Given the description of an element on the screen output the (x, y) to click on. 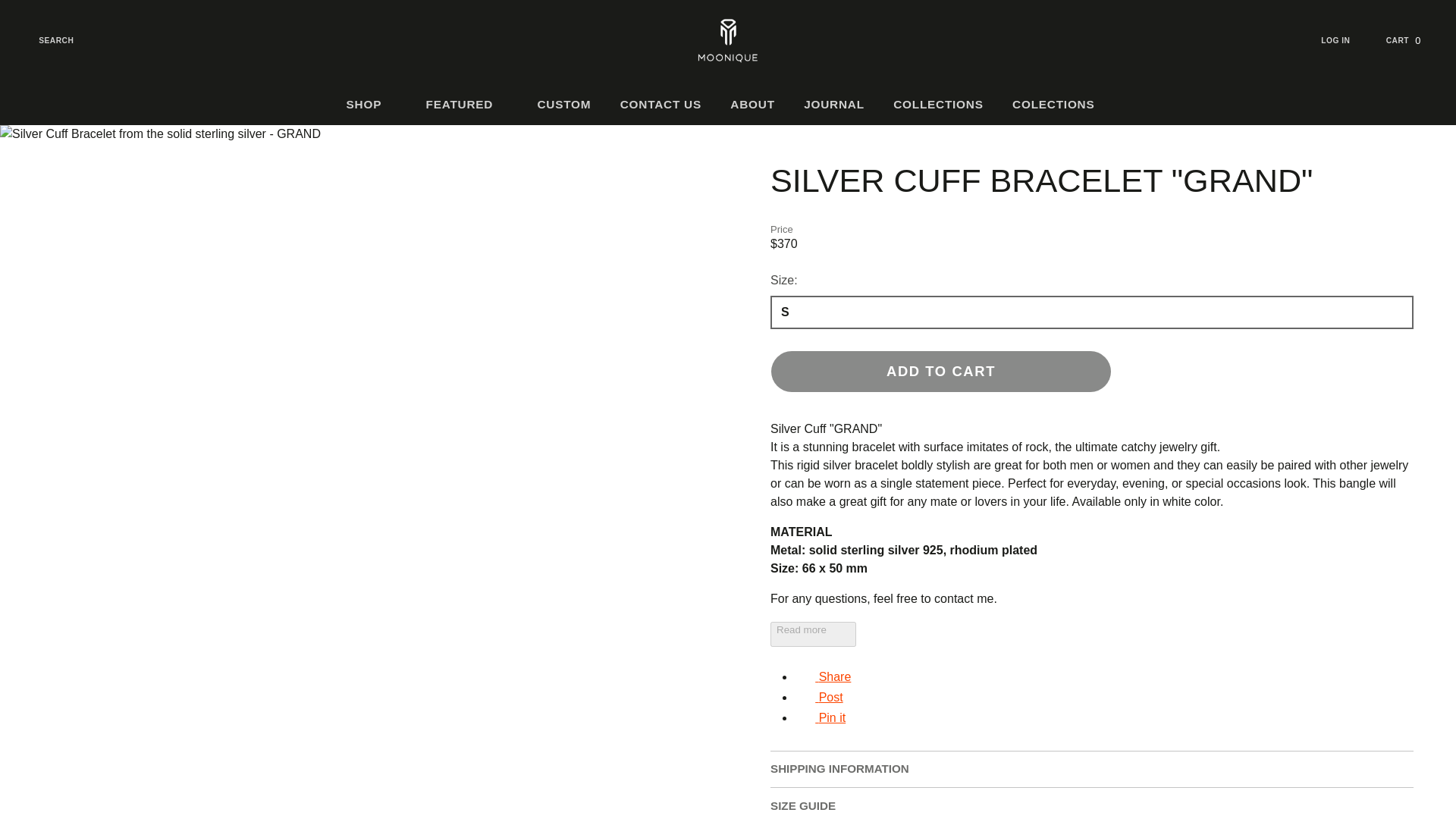
CUSTOM (563, 104)
ABOUT (752, 104)
LOG IN (1345, 40)
CONTACT US (660, 104)
SEARCH (45, 40)
JOURNAL (834, 104)
SHOP (370, 104)
FEATURED (466, 104)
COLECTIONS (1060, 104)
